Given the description of an element on the screen output the (x, y) to click on. 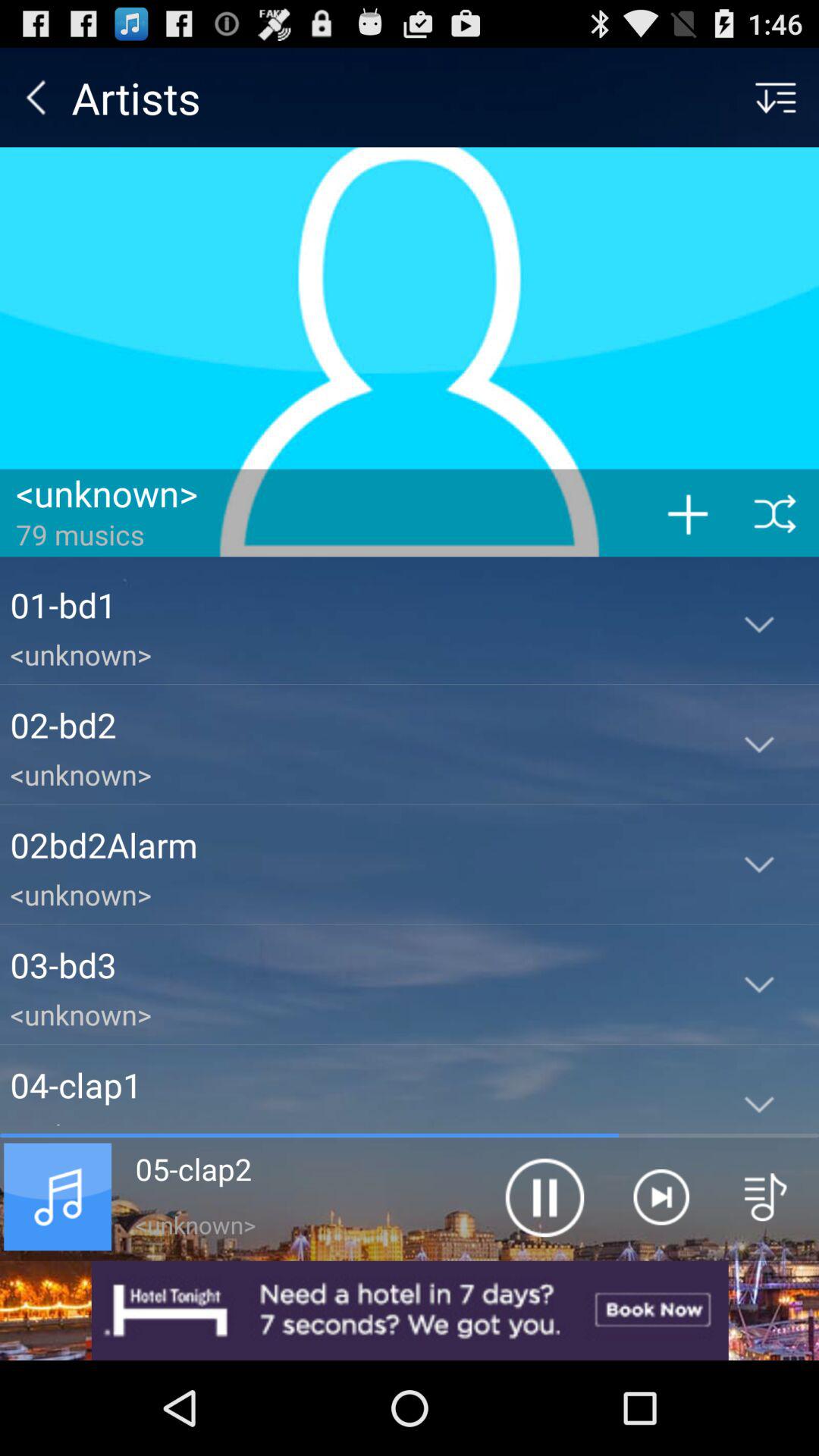
turn on the 01-bd1 app (354, 604)
